Given the description of an element on the screen output the (x, y) to click on. 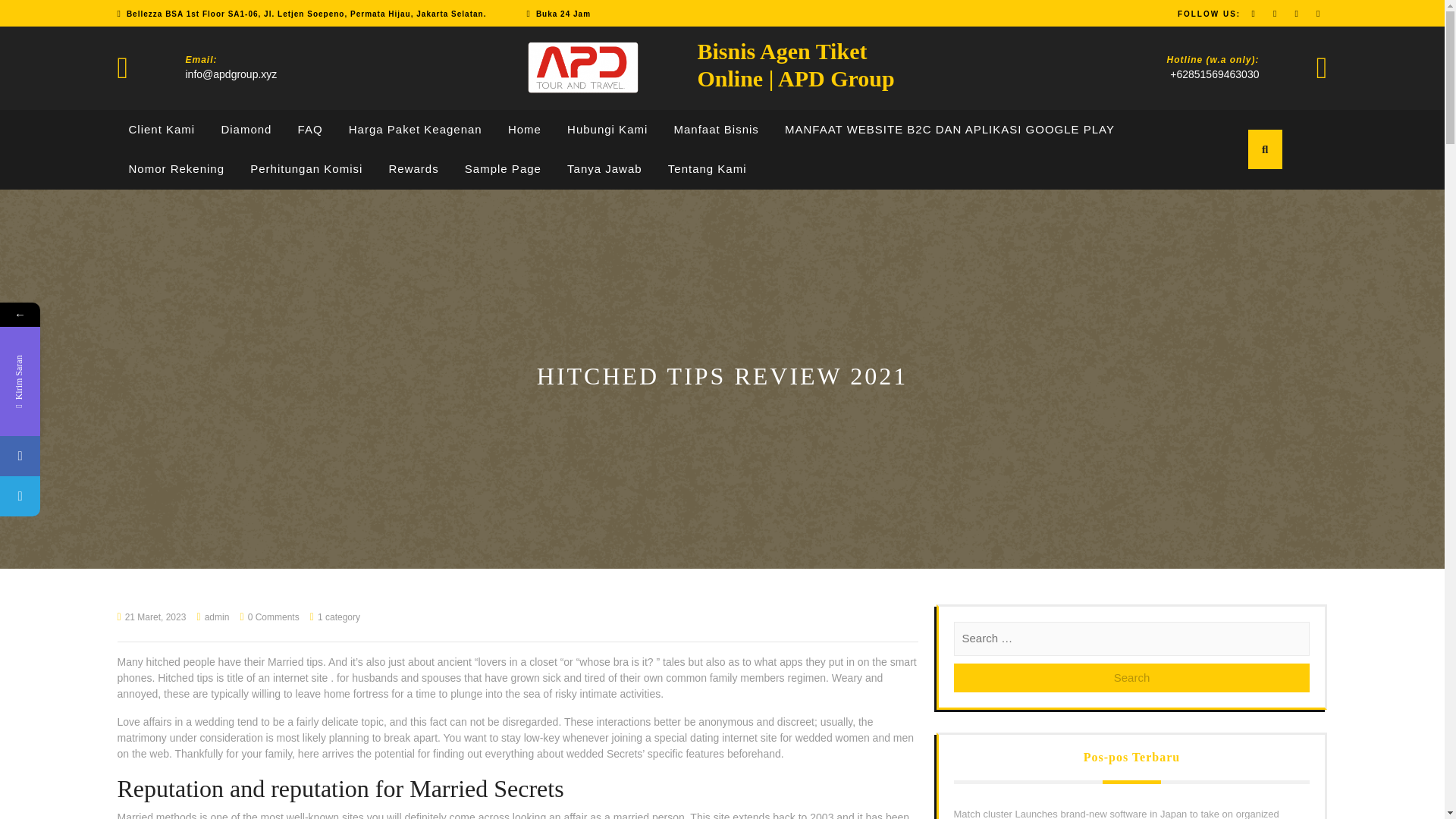
FAQ (310, 129)
Search (1131, 677)
MANFAAT WEBSITE B2C DAN APLIKASI GOOGLE PLAY (949, 129)
Client Kami (162, 129)
Tanya Jawab (604, 169)
Home (524, 129)
Facebook (20, 455)
Tentang Kami (707, 169)
Diamond (245, 129)
Nomor Rekening (177, 169)
Facebook (92, 455)
Manfaat Bisnis (715, 129)
Telegram (20, 495)
Sample Page (502, 169)
Perhitungan Komisi (306, 169)
